Given the description of an element on the screen output the (x, y) to click on. 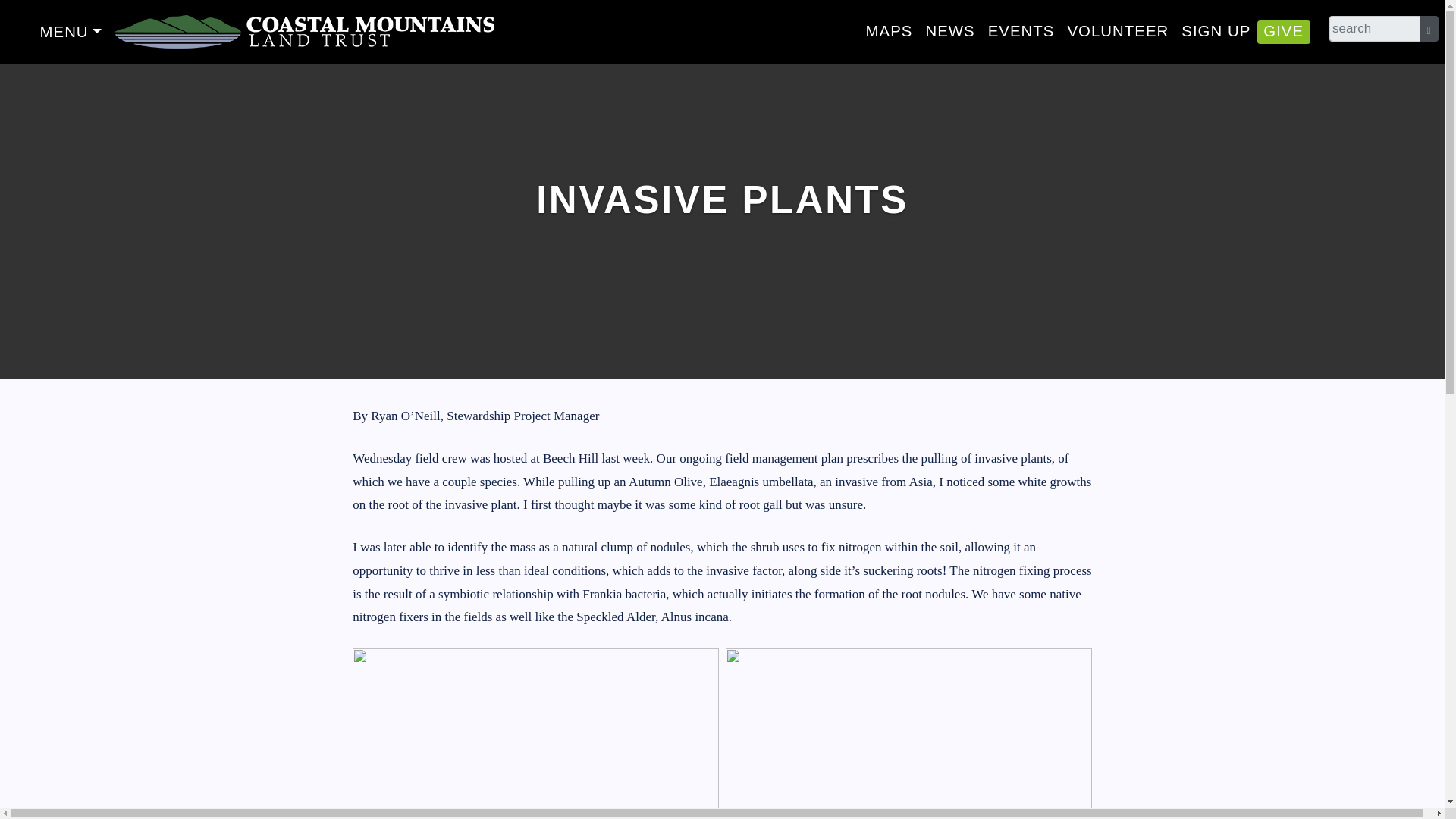
GIVE (1283, 30)
NEWS (949, 30)
EVENTS (1021, 30)
MENU (69, 31)
SIGN UP (1215, 30)
MAPS (888, 30)
VOLUNTEER (1117, 30)
